Given the description of an element on the screen output the (x, y) to click on. 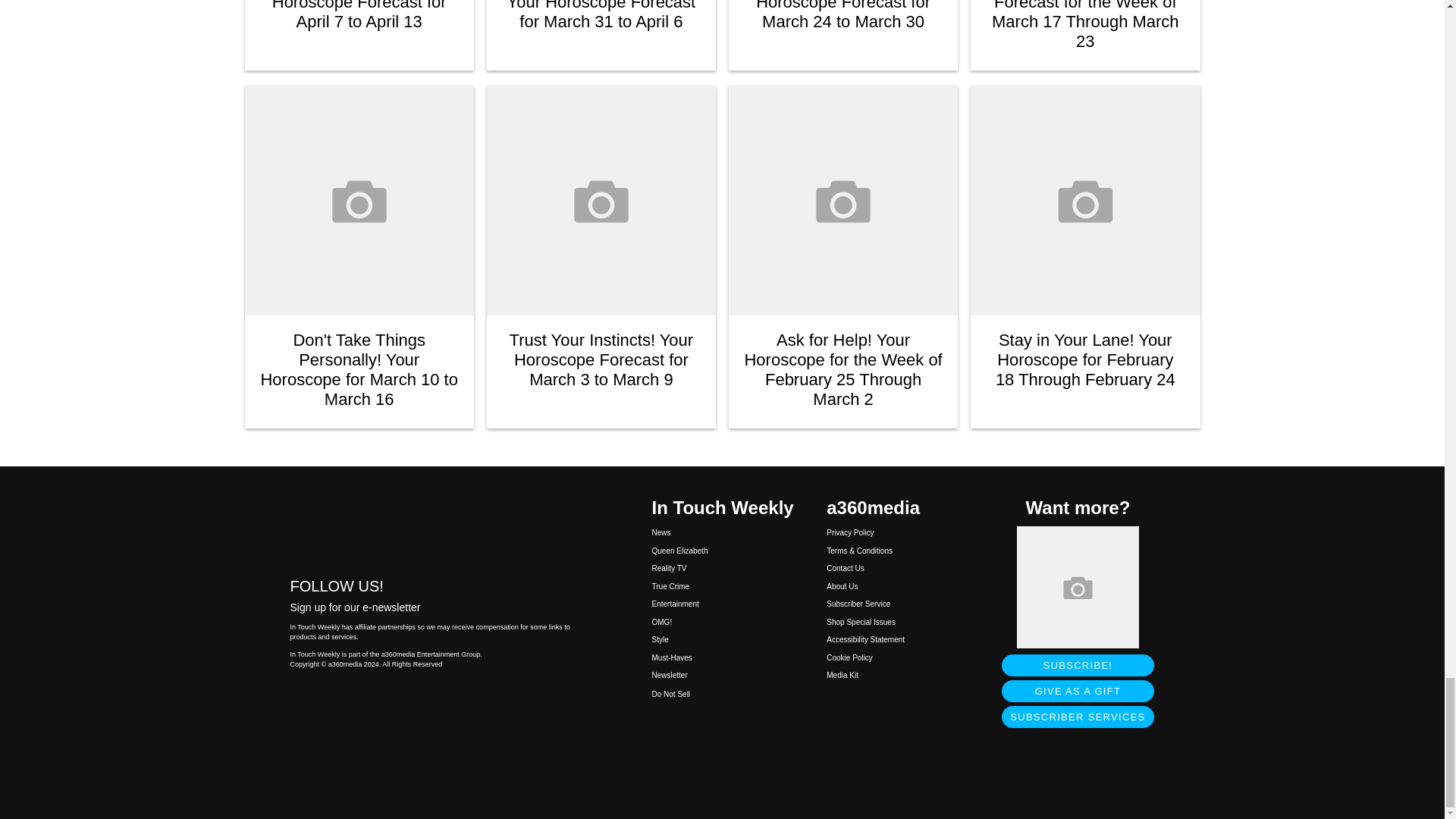
Home (434, 526)
